Given the description of an element on the screen output the (x, y) to click on. 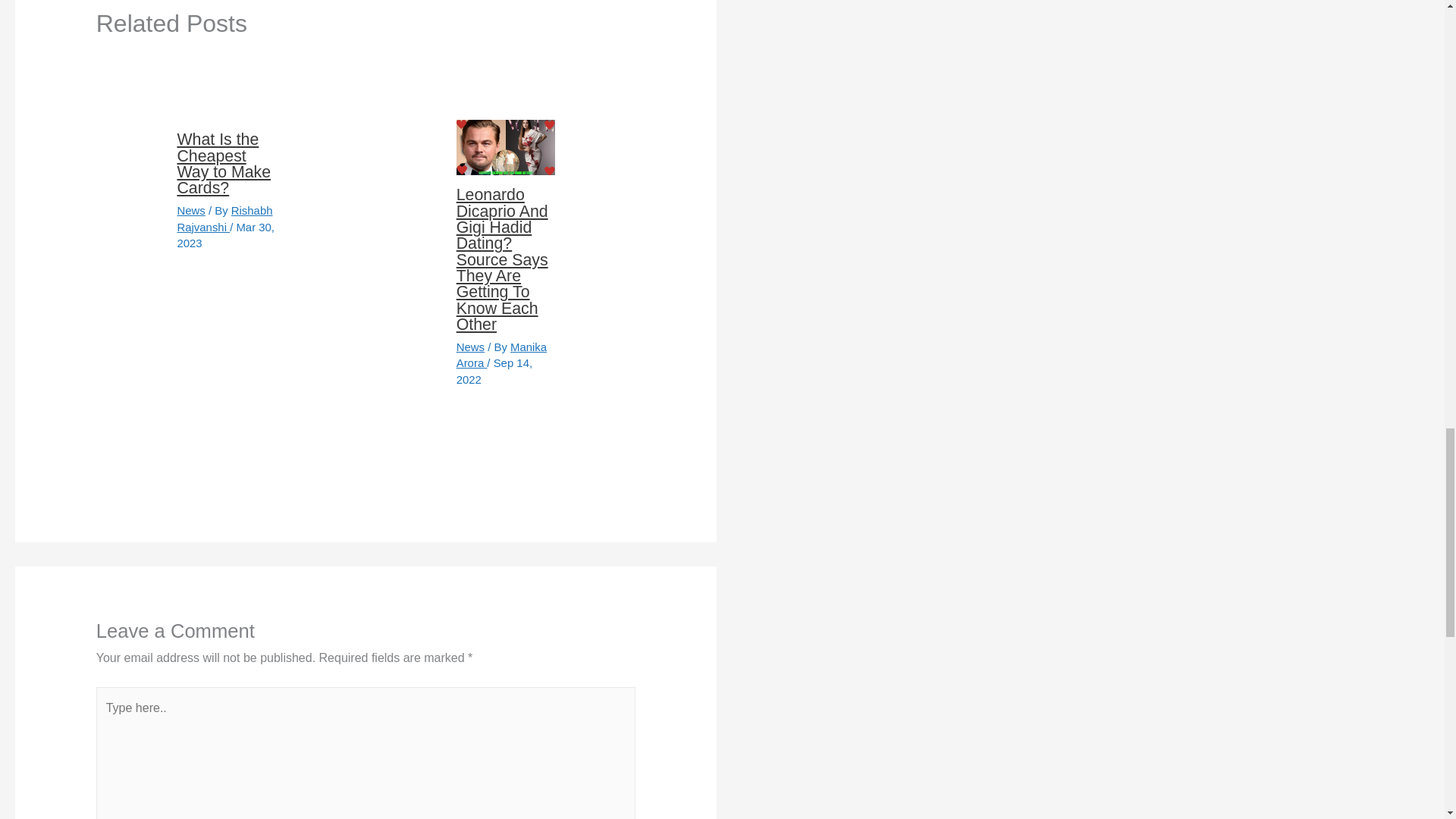
View all posts by Rishabh Rajvanshi (224, 218)
View all posts by Manika Arora (502, 355)
